Given the description of an element on the screen output the (x, y) to click on. 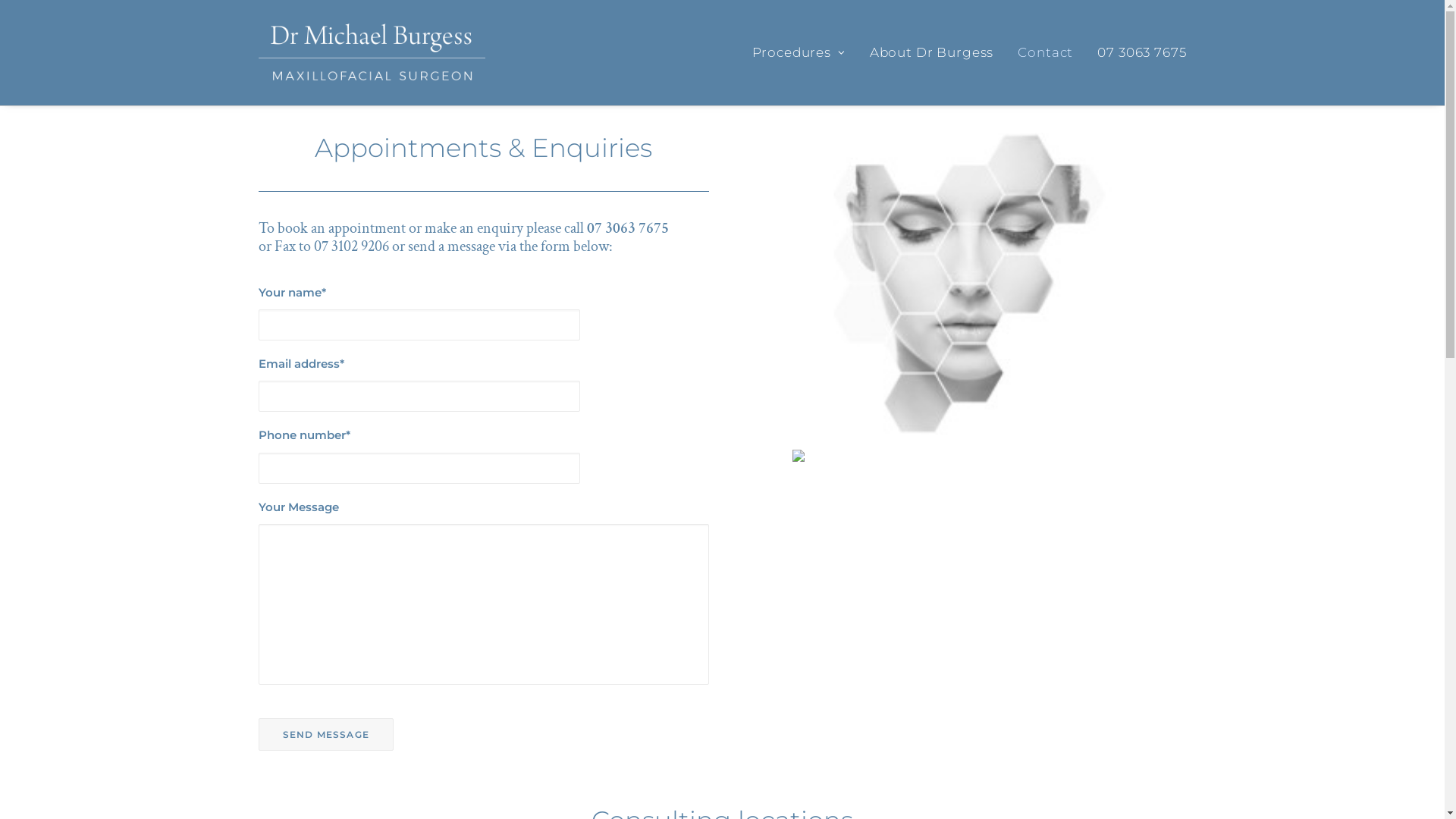
07 3063 7675 Element type: text (627, 228)
Procedures Element type: text (804, 52)
About Dr Burgess Element type: text (931, 52)
07 3102 9206 Element type: text (351, 246)
Send message Element type: text (324, 734)
07 3063 7675 Element type: text (1136, 52)
Contact Element type: text (1045, 52)
